Given the description of an element on the screen output the (x, y) to click on. 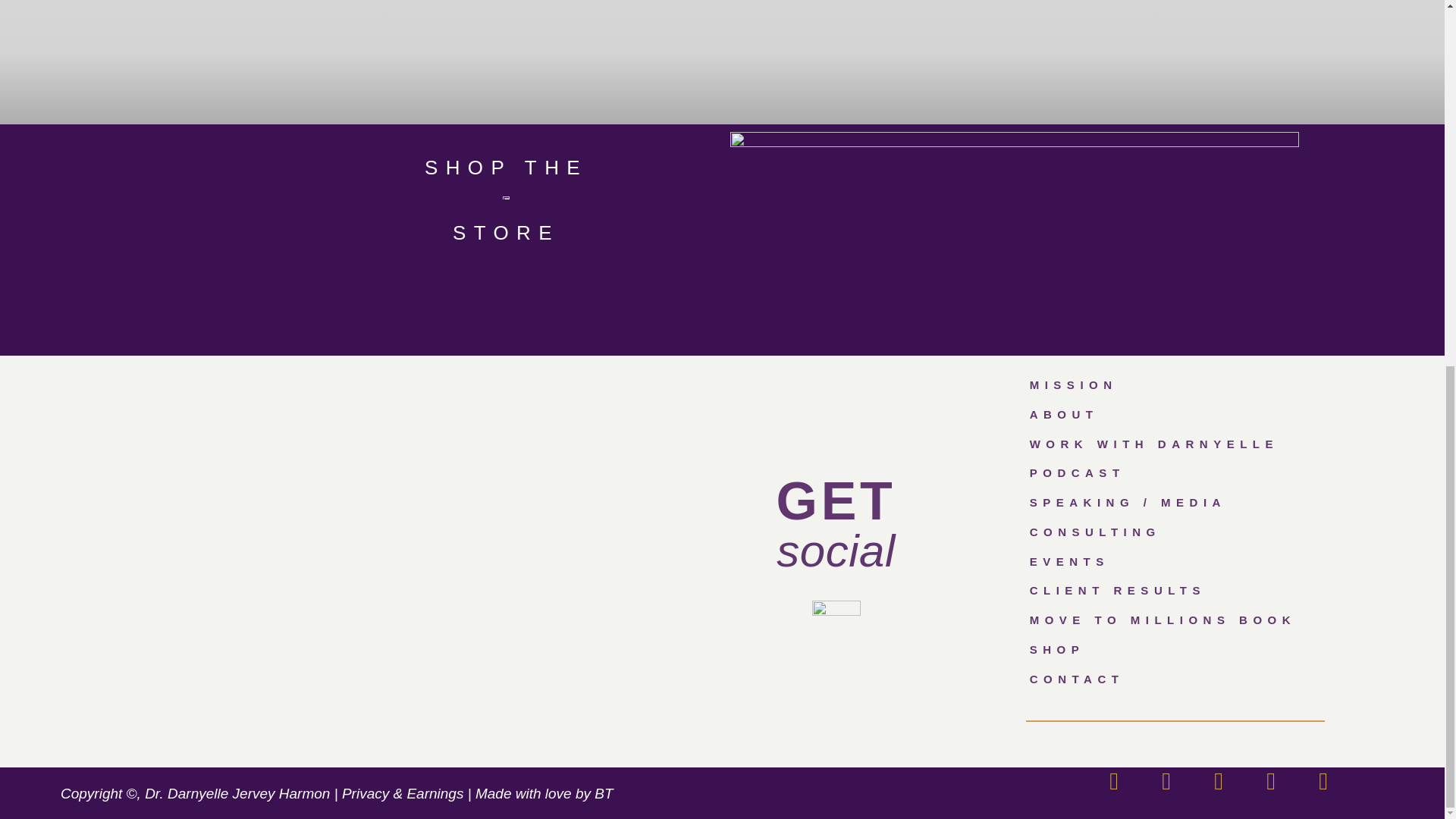
SHOP THE (506, 167)
MISSION (1224, 385)
ABOUT (1224, 414)
WORK WITH DARNYELLE (1224, 443)
STORE (505, 232)
